Given the description of an element on the screen output the (x, y) to click on. 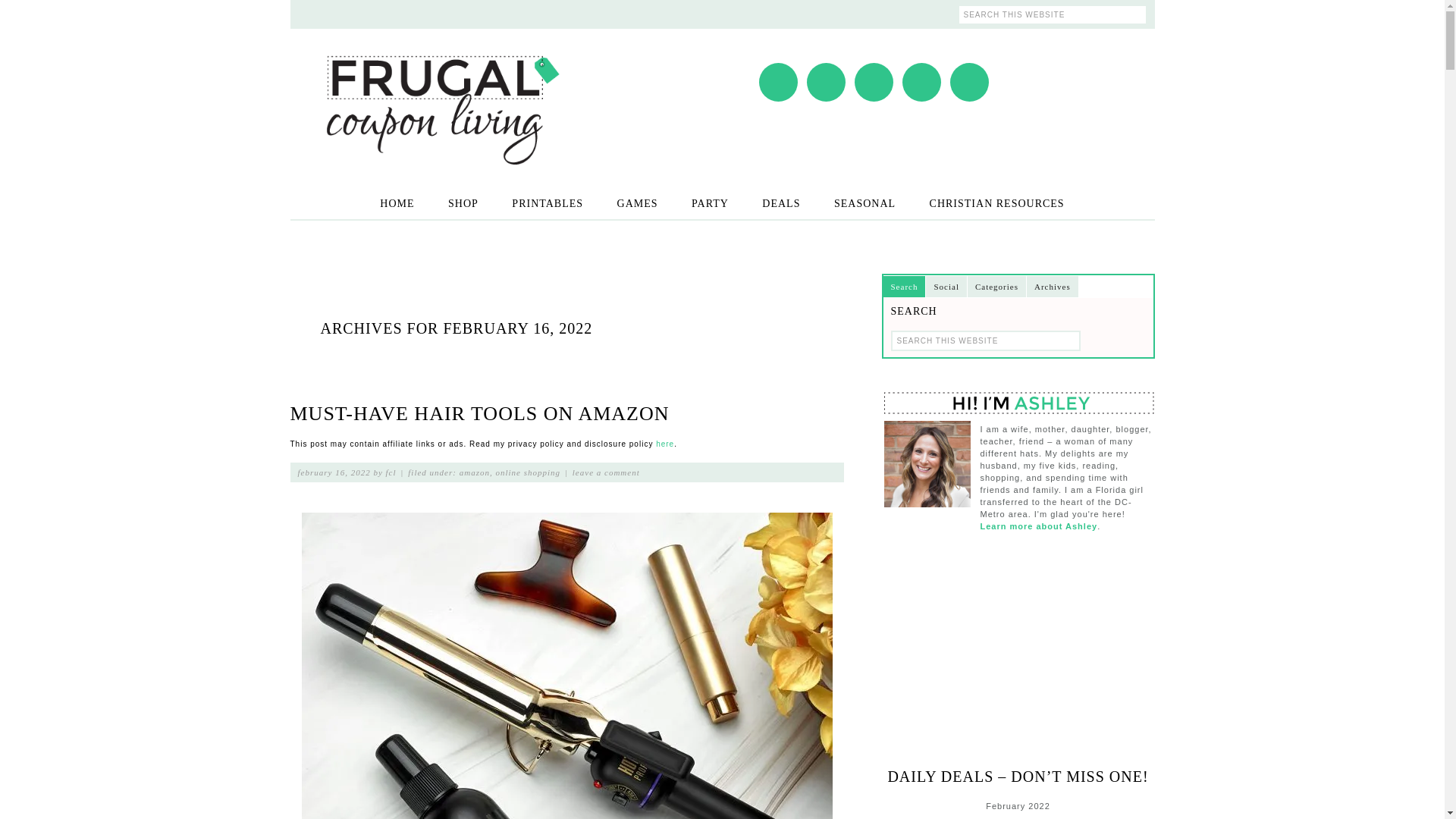
SHOP (462, 203)
Frugal Coupon Living (441, 90)
GAMES (637, 203)
Friday (1096, 816)
SEASONAL (864, 203)
HOME (397, 203)
PARTY (710, 203)
